Given the description of an element on the screen output the (x, y) to click on. 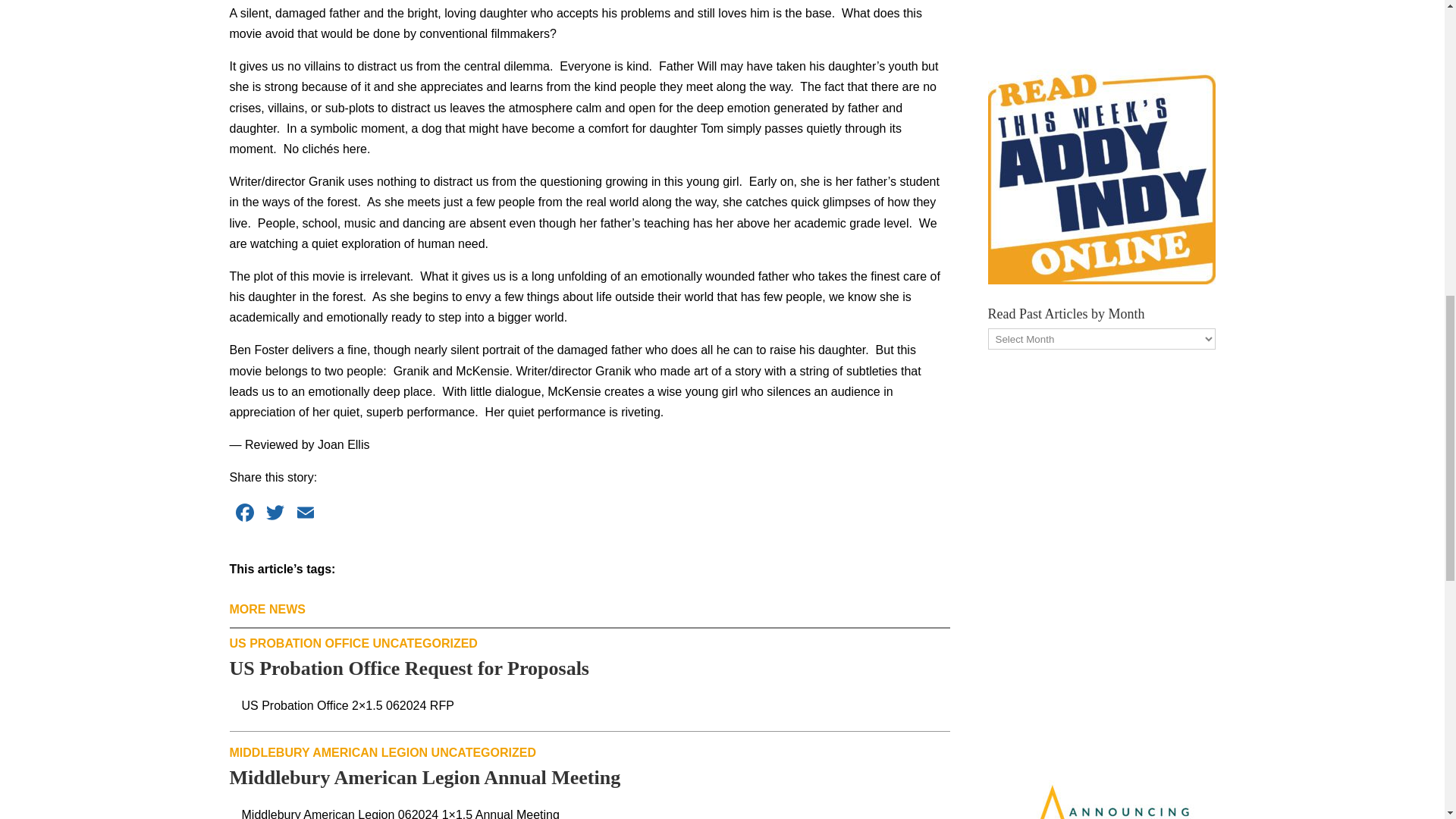
Email (304, 514)
Twitter (274, 514)
3rd party ad content (1100, 17)
Facebook (243, 514)
